Given the description of an element on the screen output the (x, y) to click on. 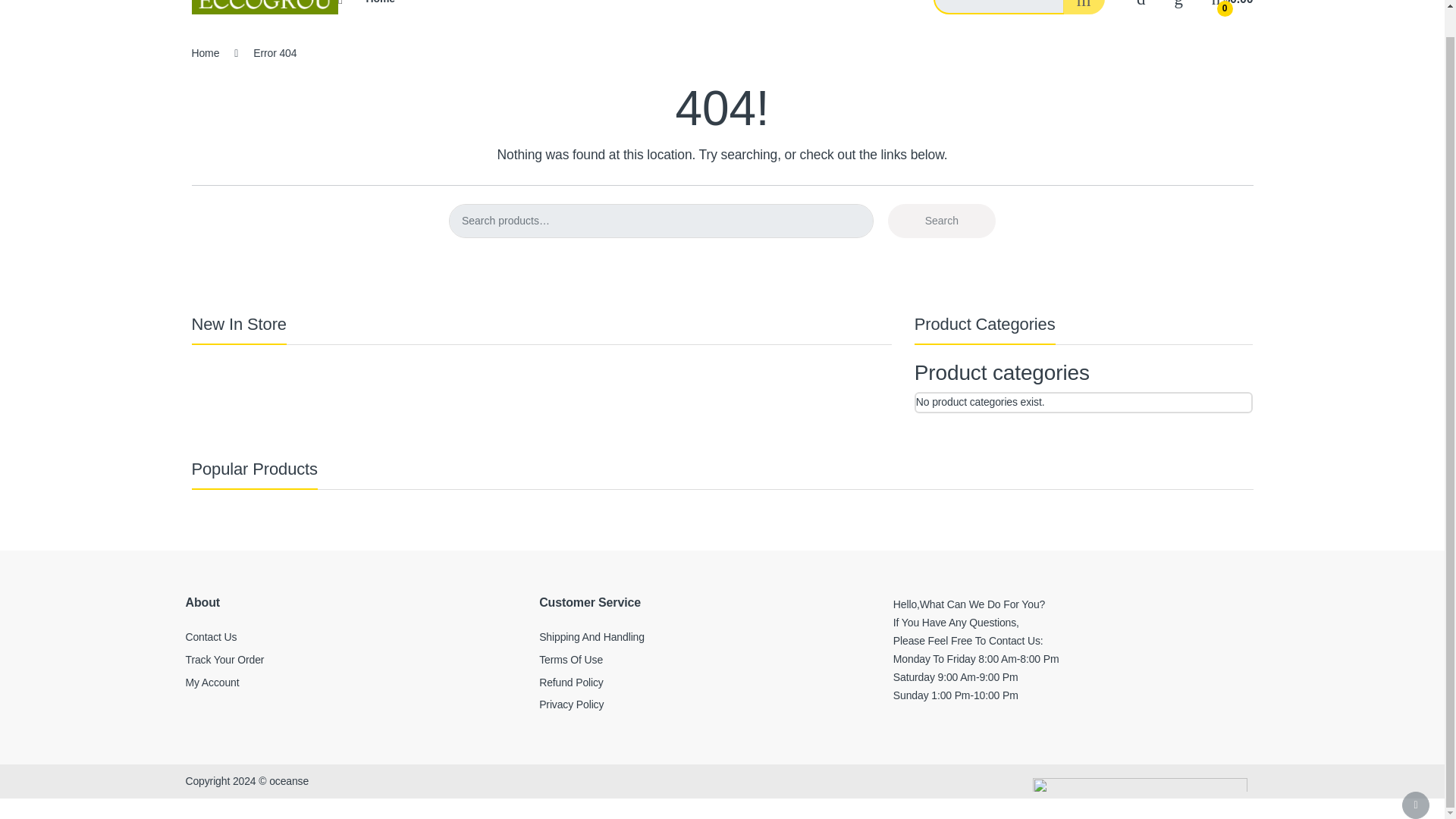
Home (379, 8)
Search (941, 220)
Shipping And Handling (591, 636)
Terms Of Use (570, 659)
Home (379, 8)
Track Your Order (223, 659)
Home (204, 52)
Refund Policy (571, 682)
Contact Us (209, 636)
My Account (211, 682)
